Given the description of an element on the screen output the (x, y) to click on. 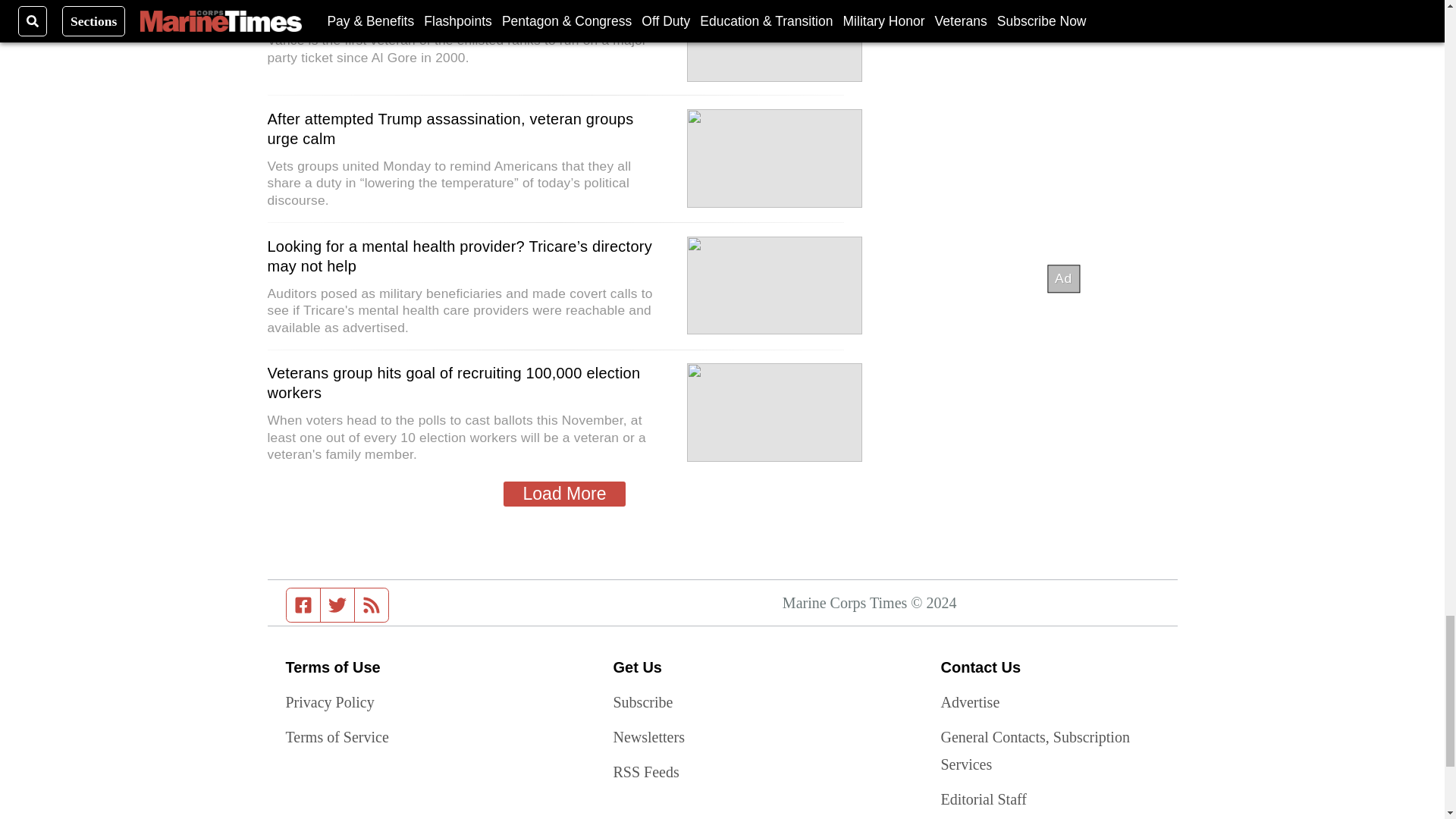
RSS feed (371, 604)
Twitter feed (336, 604)
Facebook page (303, 604)
